Given the description of an element on the screen output the (x, y) to click on. 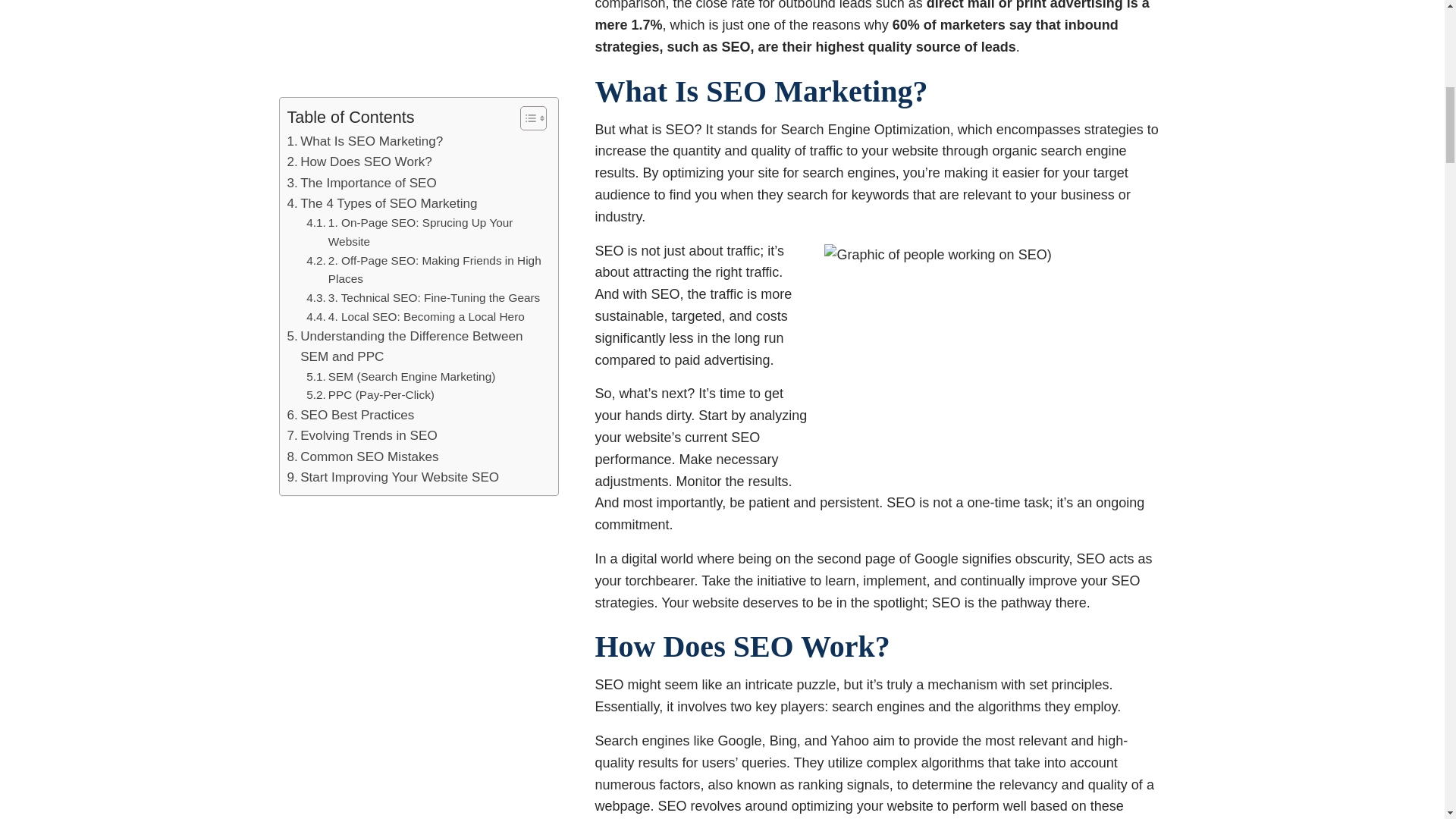
Understanding the Difference Between SEM and PPC (414, 93)
Evolving Trends in SEO (361, 181)
4. Local SEO: Becoming a Local Hero (414, 63)
Common SEO Mistakes (362, 203)
2. Off-Page SEO: Making Friends in High Places (424, 18)
SEO Best Practices (349, 161)
3. Technical SEO: Fine-Tuning the Gears (422, 45)
